Given the description of an element on the screen output the (x, y) to click on. 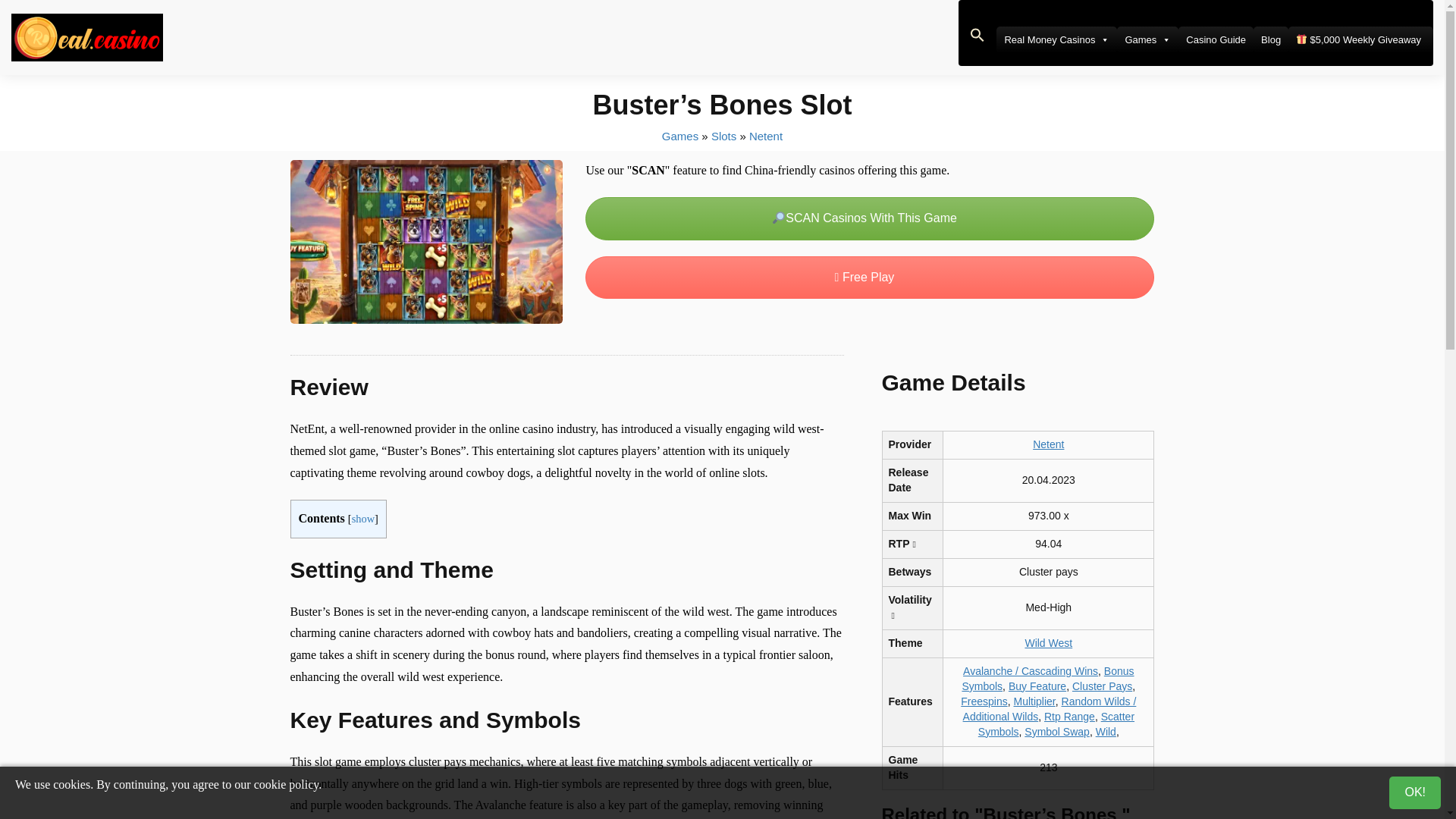
Netent Slots (766, 135)
Online Casino Games (680, 135)
Games (1146, 39)
Real Money Casinos (1055, 39)
Online Slots (723, 135)
